Given the description of an element on the screen output the (x, y) to click on. 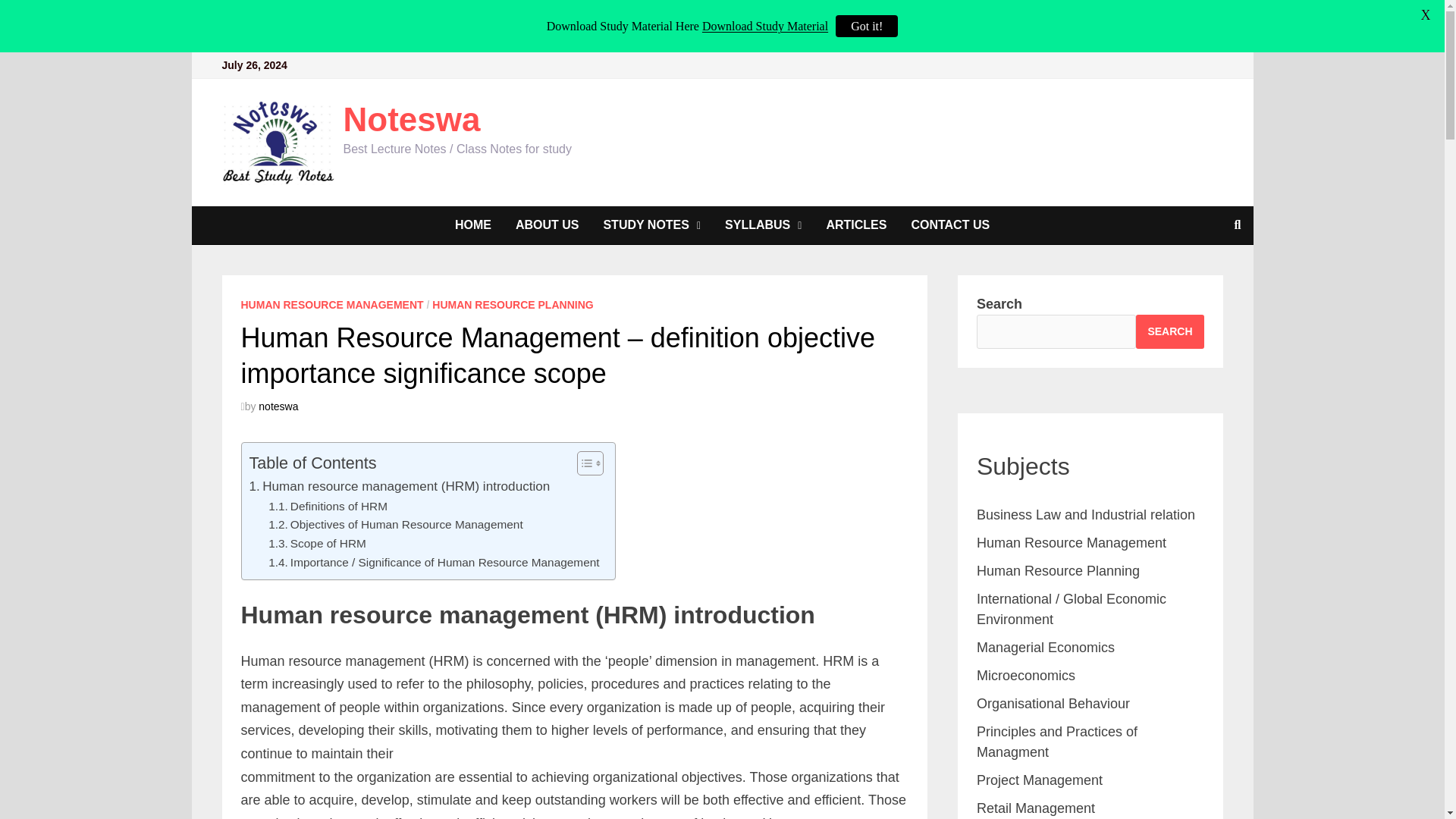
Objectives of Human Resource Management (394, 524)
Noteswa (411, 119)
HOME (472, 225)
SYLLABUS (763, 225)
Scope of HRM (316, 543)
ARTICLES (855, 225)
CONTACT US (949, 225)
ABOUT US (547, 225)
Objectives of Human Resource Management (394, 524)
HUMAN RESOURCE PLANNING (512, 304)
STUDY NOTES (652, 225)
HUMAN RESOURCE MANAGEMENT (332, 304)
Definitions of HRM (327, 506)
noteswa (278, 406)
